Given the description of an element on the screen output the (x, y) to click on. 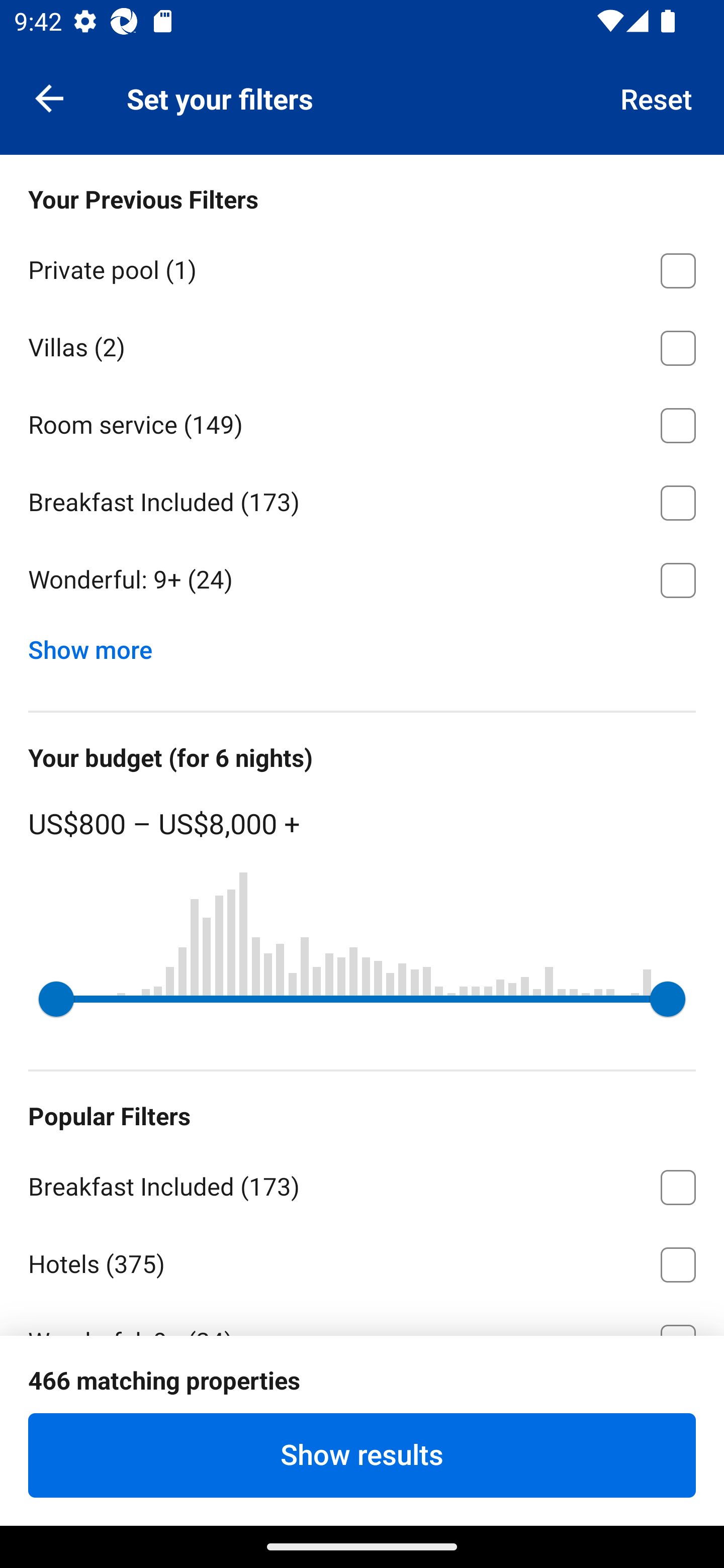
Navigate up (49, 97)
Reset (656, 97)
Private pool ⁦(1) (361, 266)
Villas ⁦(2) (361, 344)
Room service ⁦(149) (361, 422)
Breakfast Included ⁦(173) (361, 498)
Wonderful: 9+ ⁦(24) (361, 579)
Show more (97, 645)
Breakfast Included ⁦(173) (361, 1183)
Hotels ⁦(375) (361, 1261)
Show results (361, 1454)
